Given the description of an element on the screen output the (x, y) to click on. 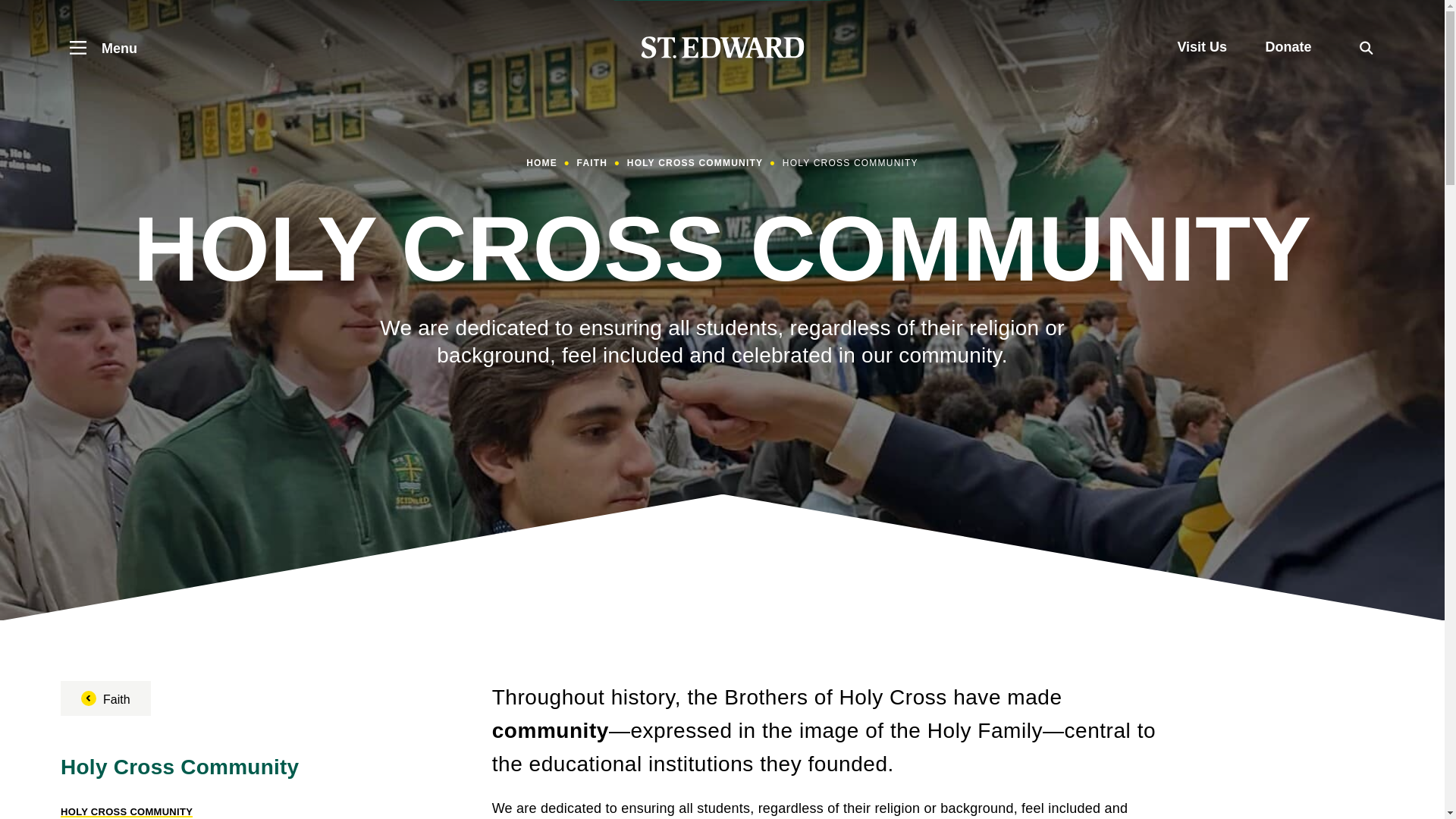
Open Search Menu (1366, 47)
Donate (1288, 46)
Visit Us (1201, 46)
Menu (98, 47)
